Given the description of an element on the screen output the (x, y) to click on. 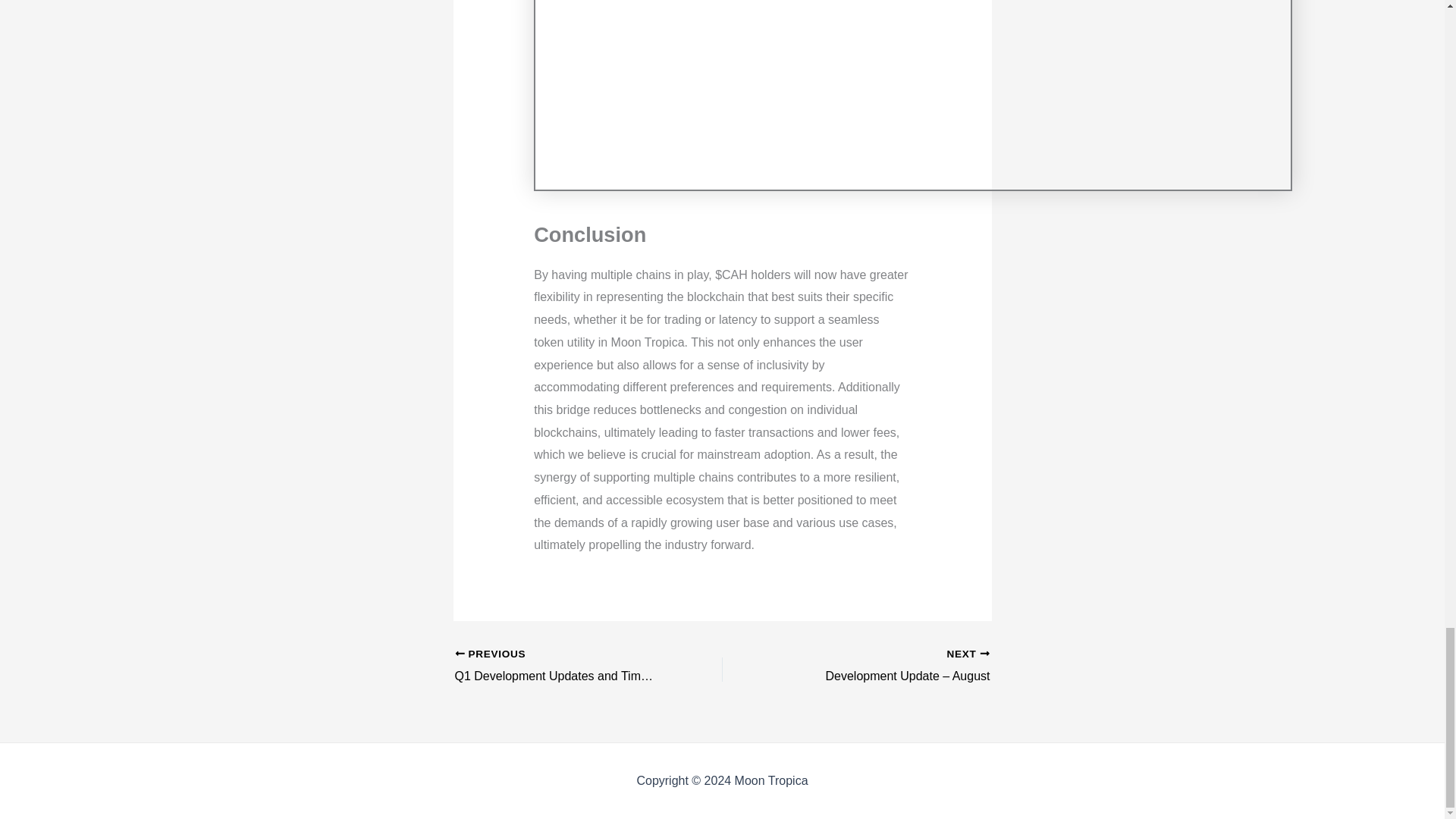
Development Update - August (882, 666)
Q1 Development Updates and Timeline (561, 666)
